Given the description of an element on the screen output the (x, y) to click on. 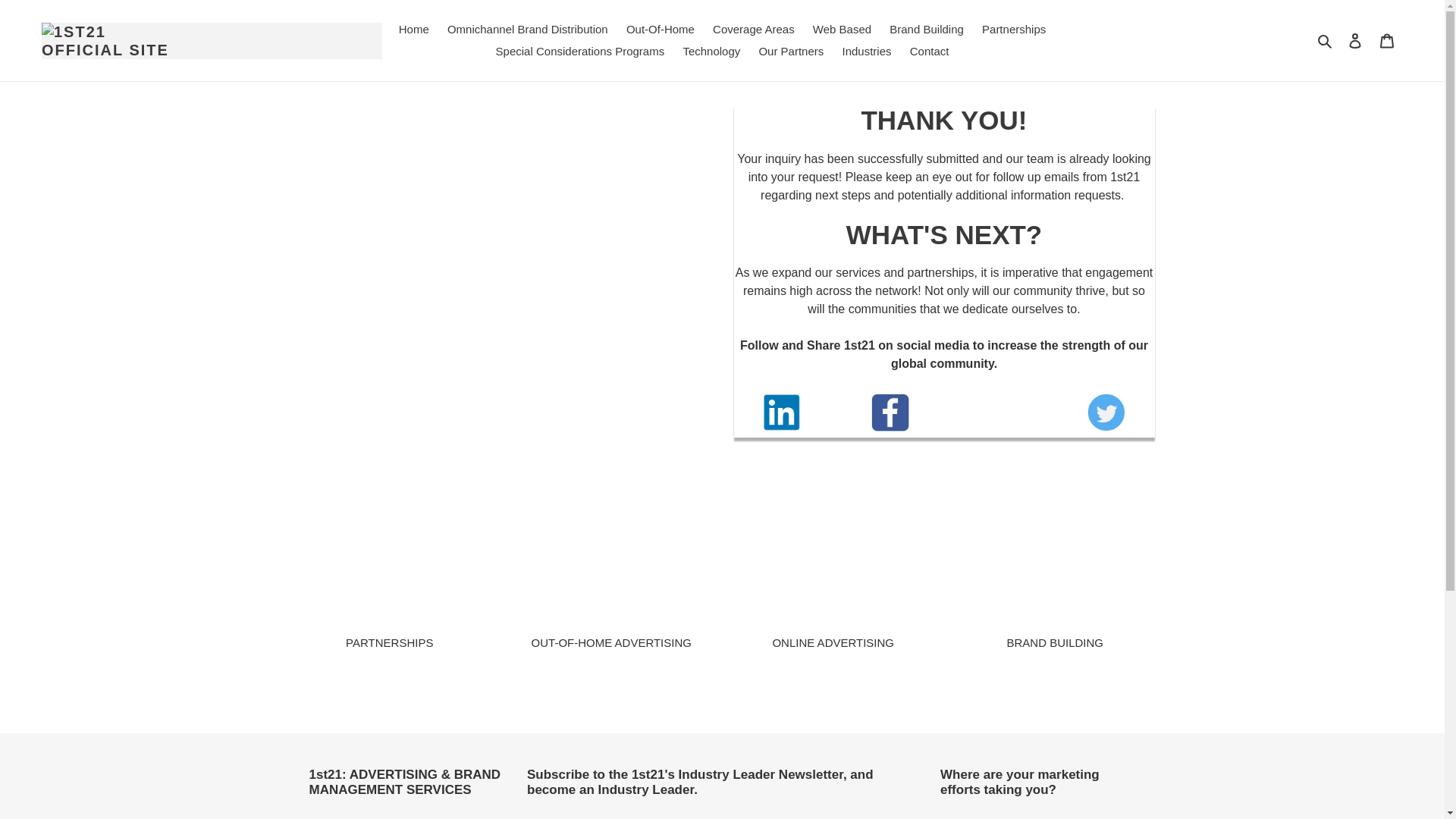
Contact (929, 51)
Campaign Services (1387, 40)
Log in (1355, 40)
Industries (866, 51)
Technology (711, 51)
Our Partners (791, 51)
Home (413, 29)
Partnerships (1013, 29)
Out-Of-Home (659, 29)
Search (1326, 40)
Web Based (842, 29)
Brand Building (926, 29)
Coverage Areas (753, 29)
Special Considerations Programs (579, 51)
Omnichannel Brand Distribution (527, 29)
